Given the description of an element on the screen output the (x, y) to click on. 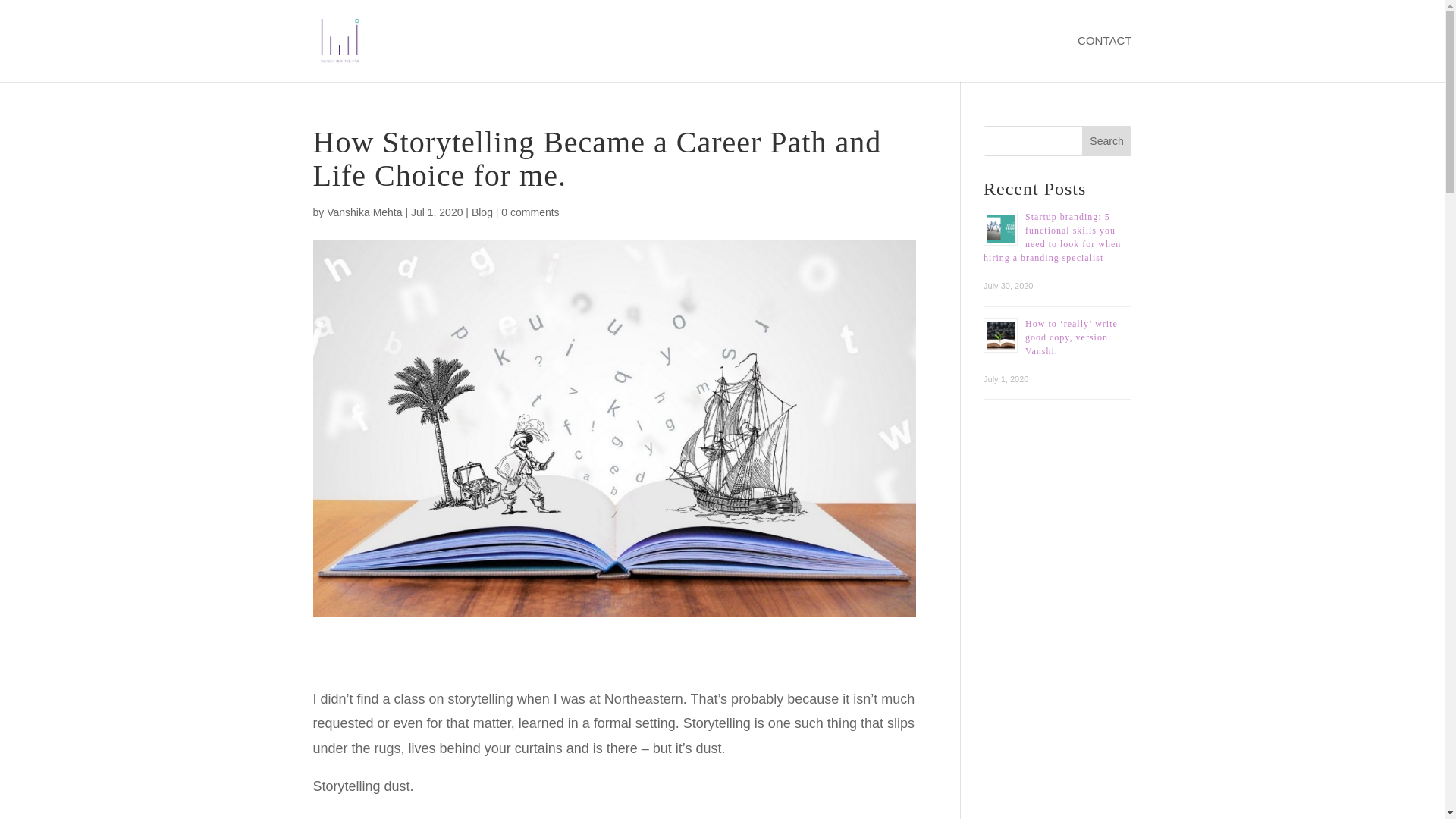
Blog (482, 212)
CONTACT (1104, 58)
Vanshika Mehta (363, 212)
Search (1106, 141)
Posts by Vanshika Mehta (363, 212)
0 comments (529, 212)
Search (1106, 141)
